Given the description of an element on the screen output the (x, y) to click on. 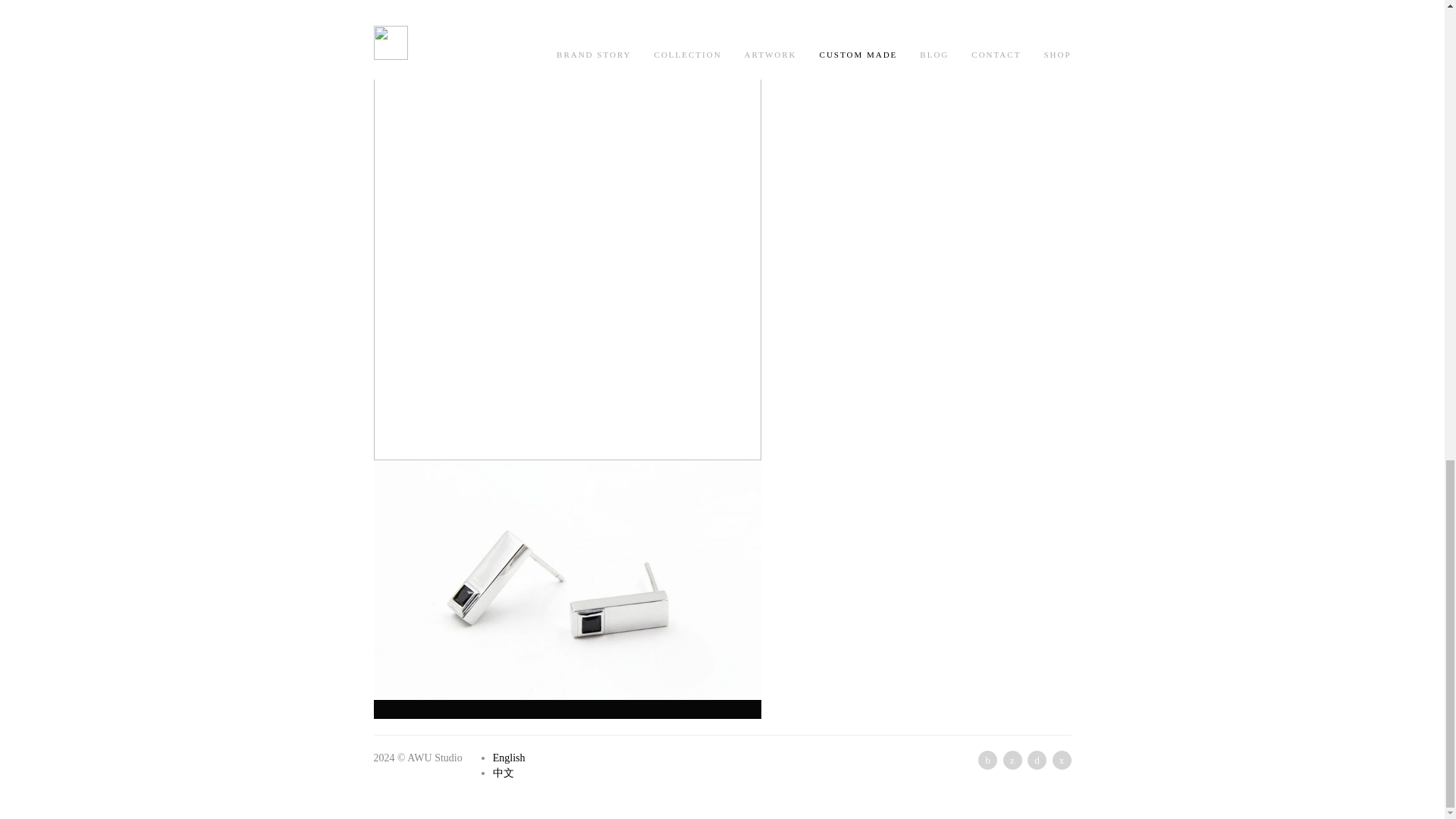
English (509, 757)
